Given the description of an element on the screen output the (x, y) to click on. 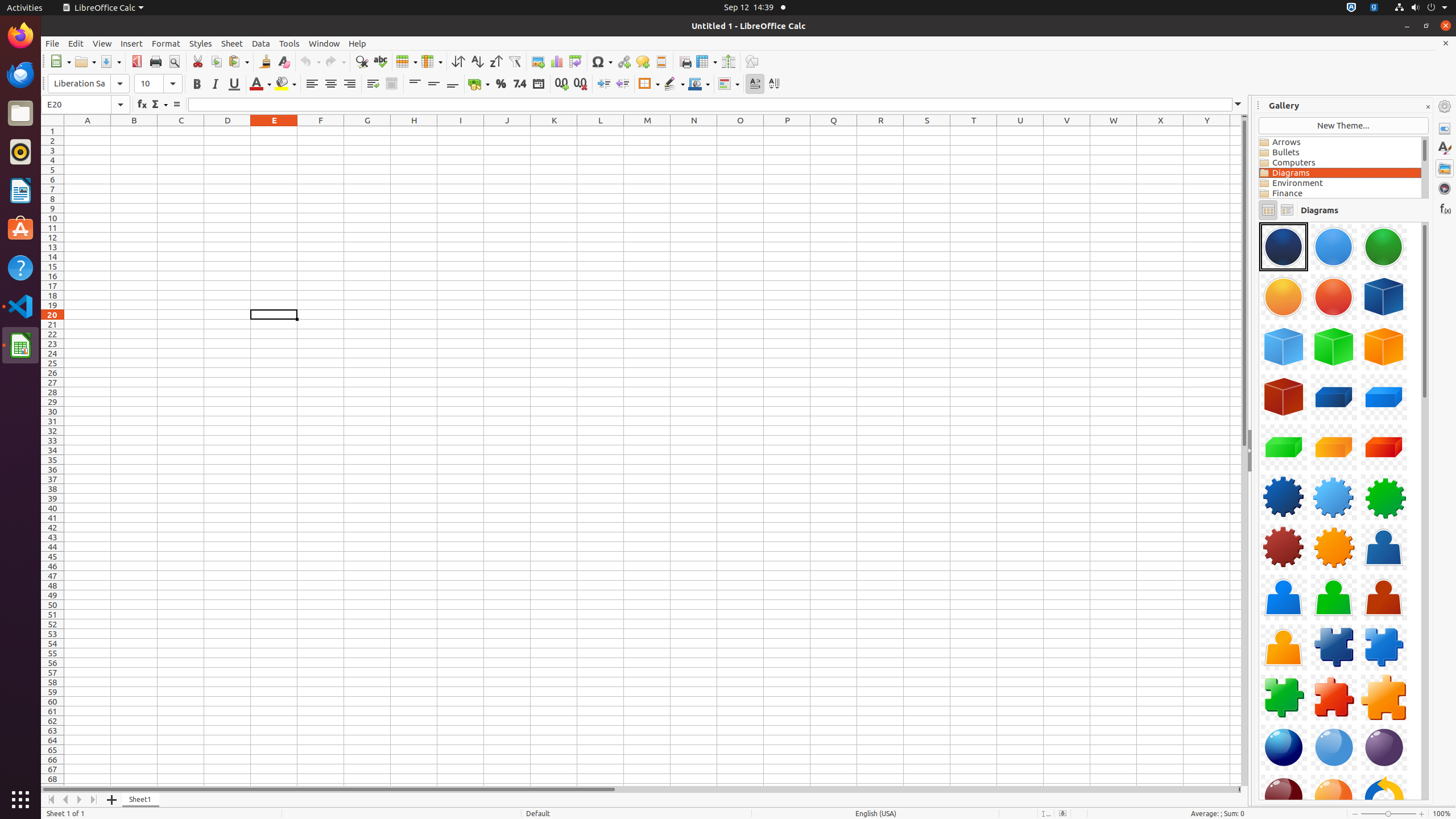
Function Wizard Element type: push-button (141, 104)
Borders (Shift to overwrite) Element type: push-button (648, 83)
Print Preview Element type: toggle-button (173, 61)
Component-Sphere04-DarkRed Element type: list-item (1259, 222)
Component-Cube03-Green Element type: list-item (1333, 346)
